Given the description of an element on the screen output the (x, y) to click on. 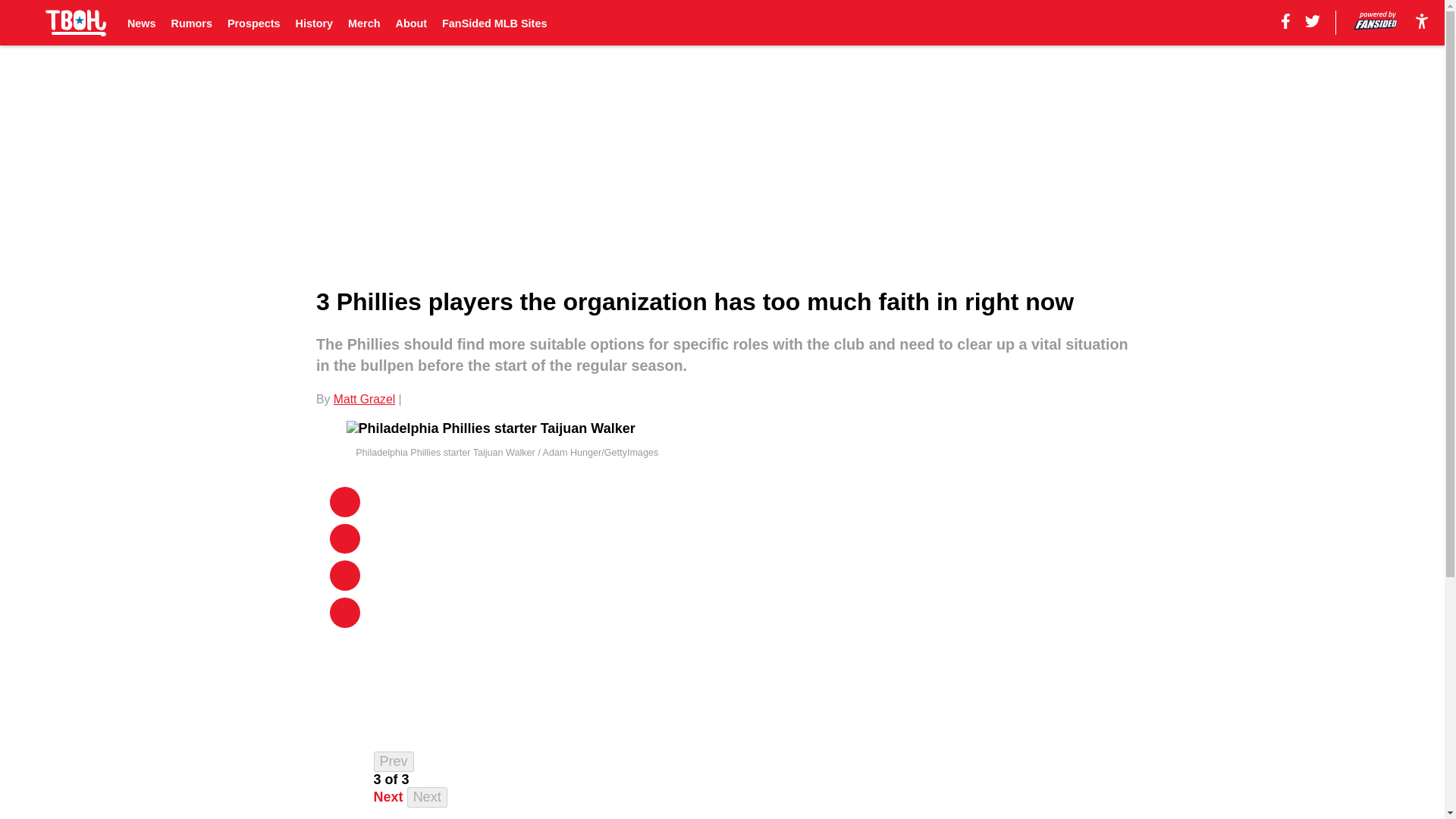
About (412, 23)
Next (426, 797)
Matt Grazel (363, 399)
History (314, 23)
Next (388, 796)
Rumors (191, 23)
Prev (393, 761)
Prospects (254, 23)
News (141, 23)
FanSided MLB Sites (494, 23)
